Given the description of an element on the screen output the (x, y) to click on. 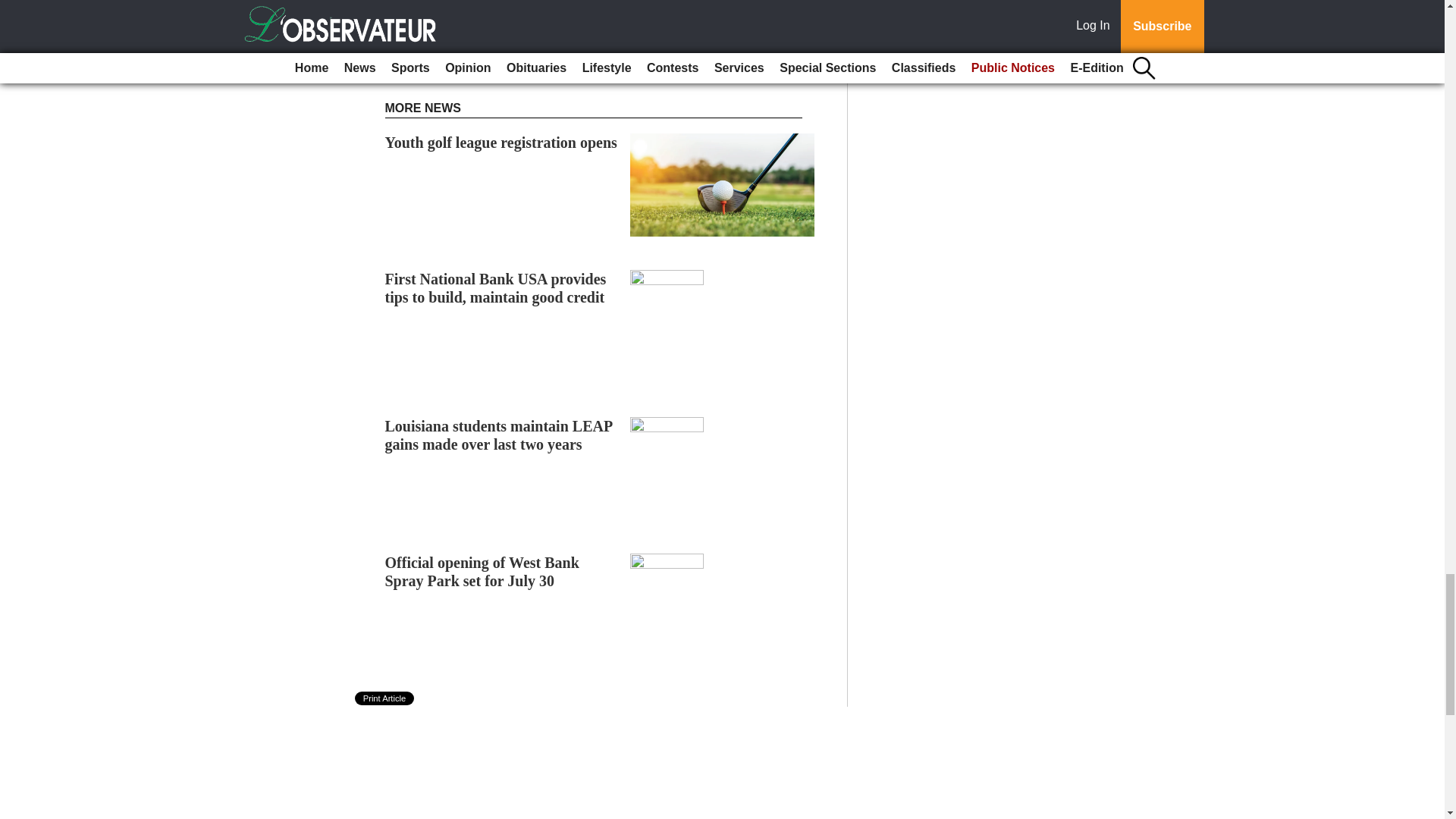
Official opening of West Bank Spray Park set for July 30 (482, 571)
Official opening of West Bank Spray Park set for July 30 (482, 571)
Youth golf league registration opens (501, 142)
CouldItBeHCM.com (645, 77)
Youth golf league registration opens (501, 142)
Print Article (384, 698)
